Given the description of an element on the screen output the (x, y) to click on. 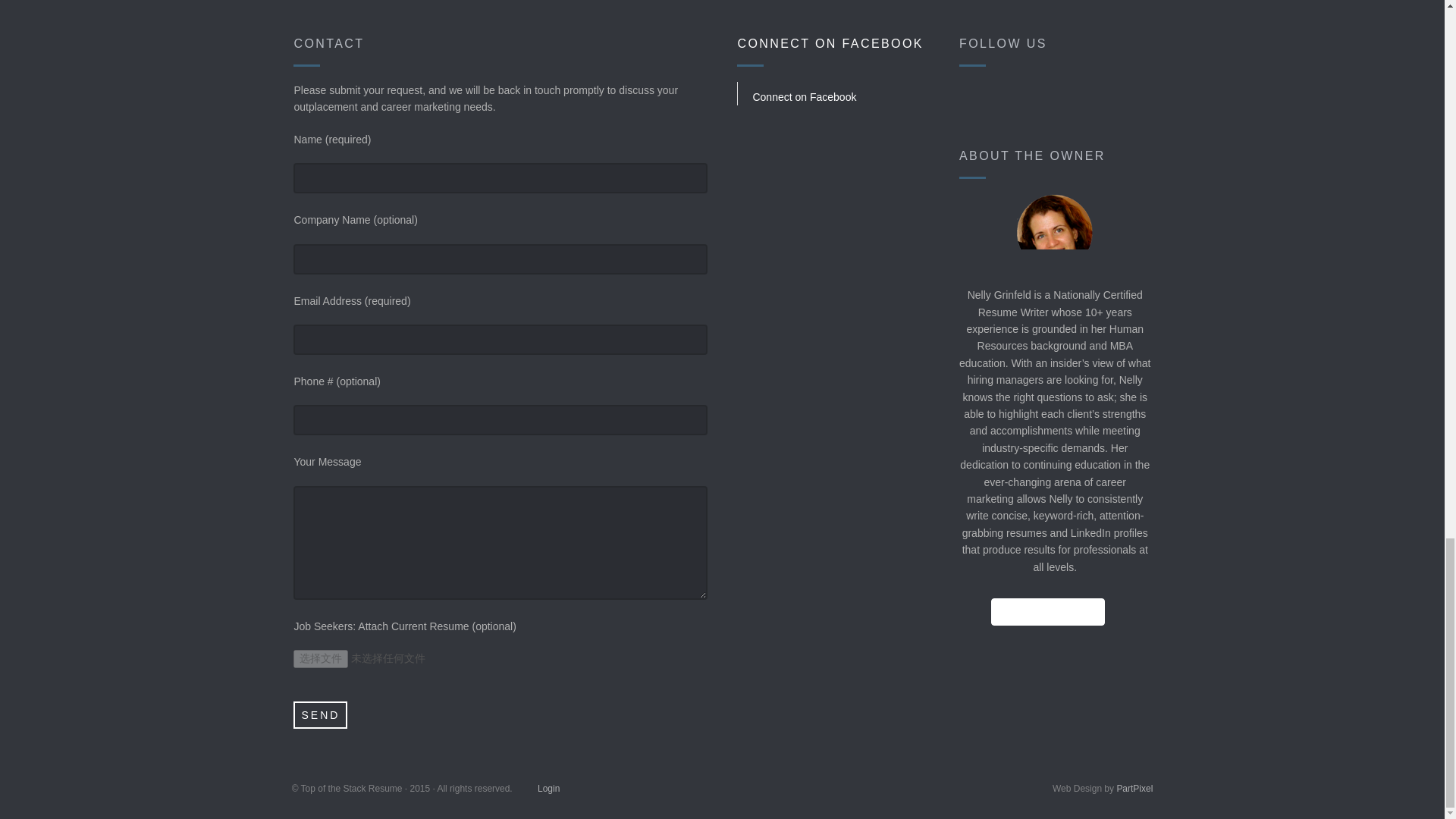
PartPixel (1134, 787)
Facebook (977, 99)
Connect on Facebook (804, 96)
READ MORE (1047, 611)
Login (548, 787)
CONNECT ON FACEBOOK (829, 42)
Send (320, 714)
Send (320, 714)
Twitter (1016, 99)
LinkedIn (1056, 99)
